Given the description of an element on the screen output the (x, y) to click on. 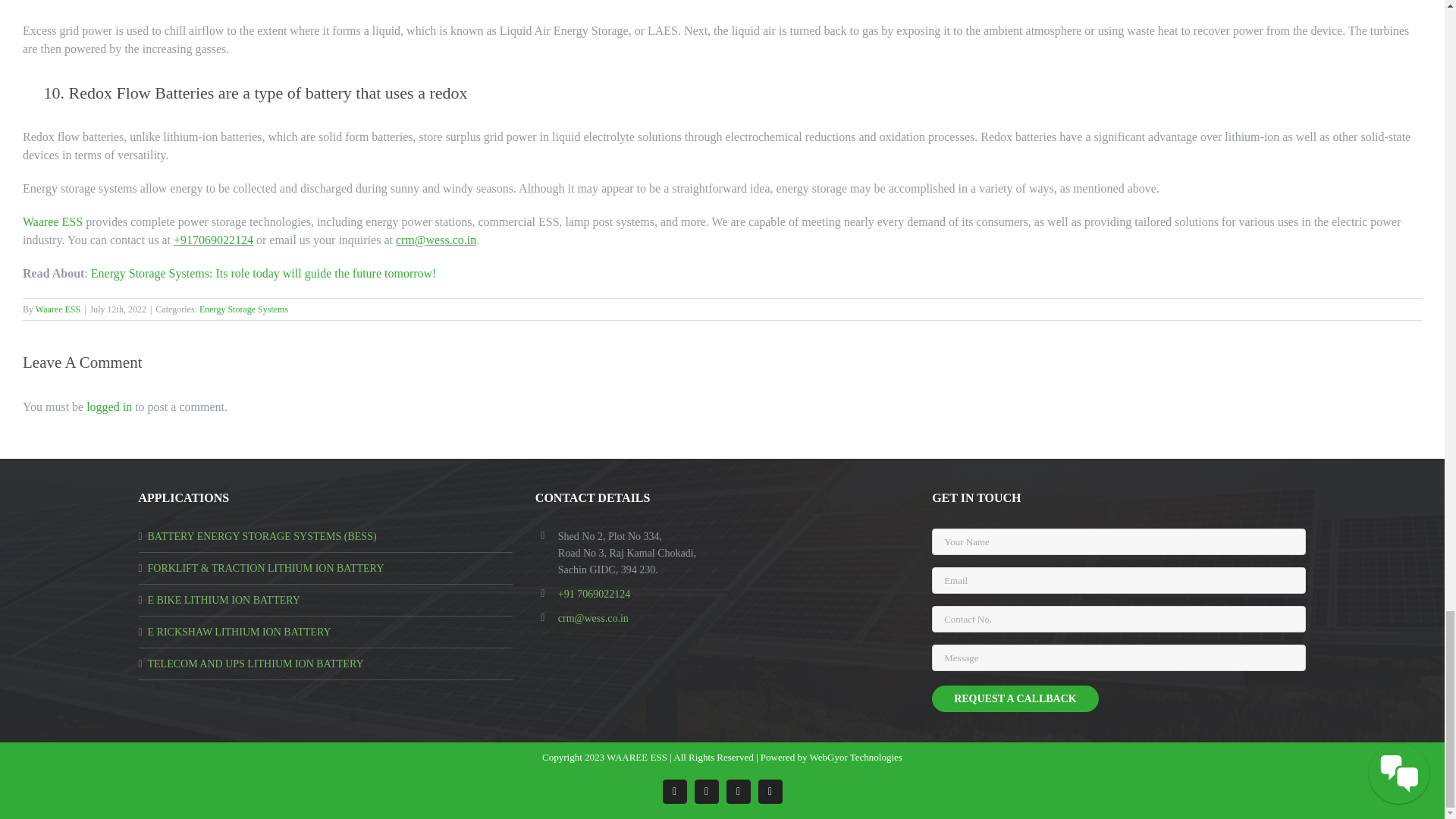
LinkedIn (738, 791)
Facebook (674, 791)
REQUEST A CALLBACK (1015, 698)
Instagram (706, 791)
Posts by Waaree ESS (57, 308)
Twitter (770, 791)
